Given the description of an element on the screen output the (x, y) to click on. 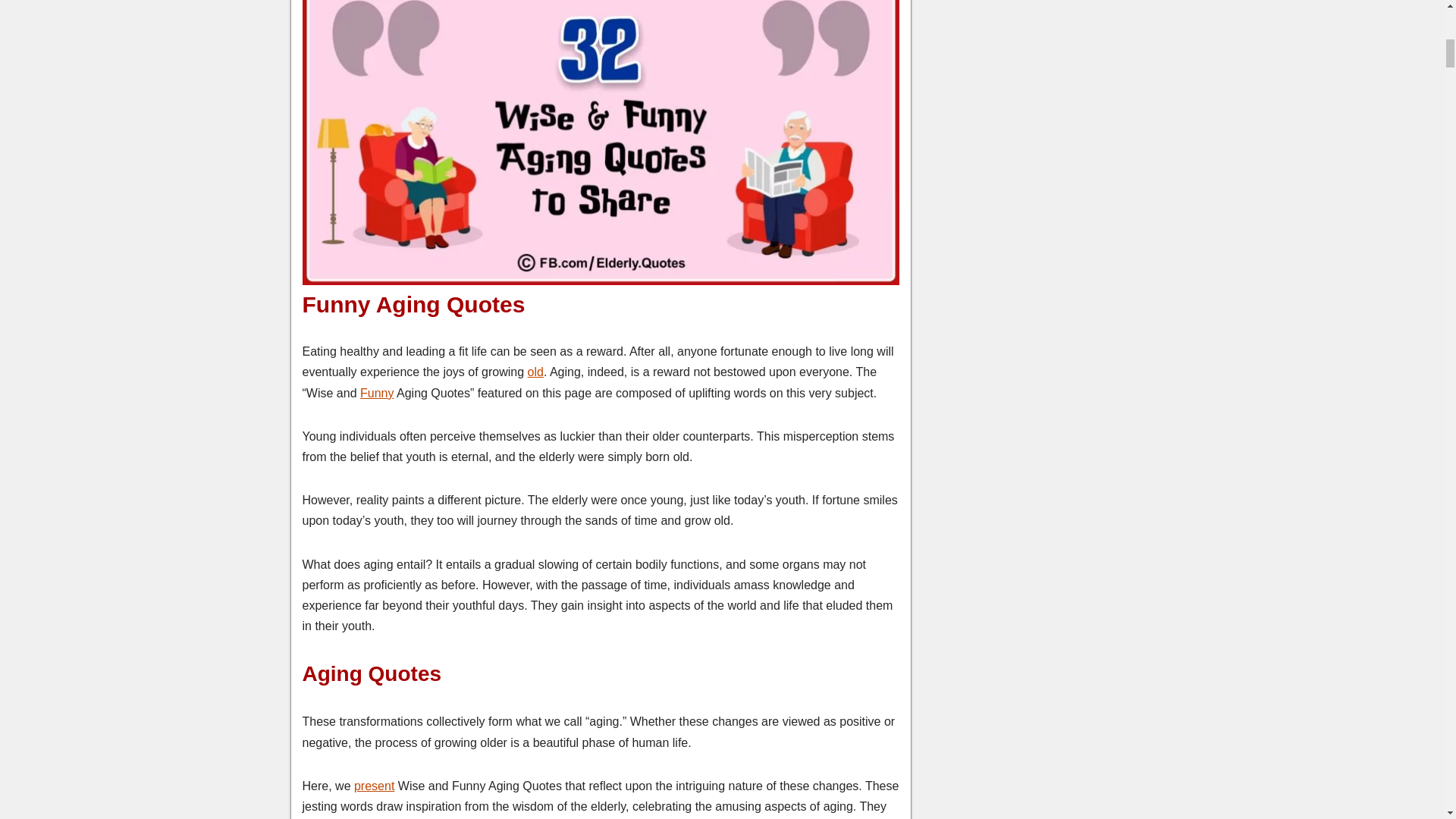
present (373, 785)
Funny (376, 392)
Birthday Gift Ideas (373, 785)
Age-Specific Birthday Cards (535, 371)
Funny Birthday Cards (376, 392)
old (535, 371)
